Given the description of an element on the screen output the (x, y) to click on. 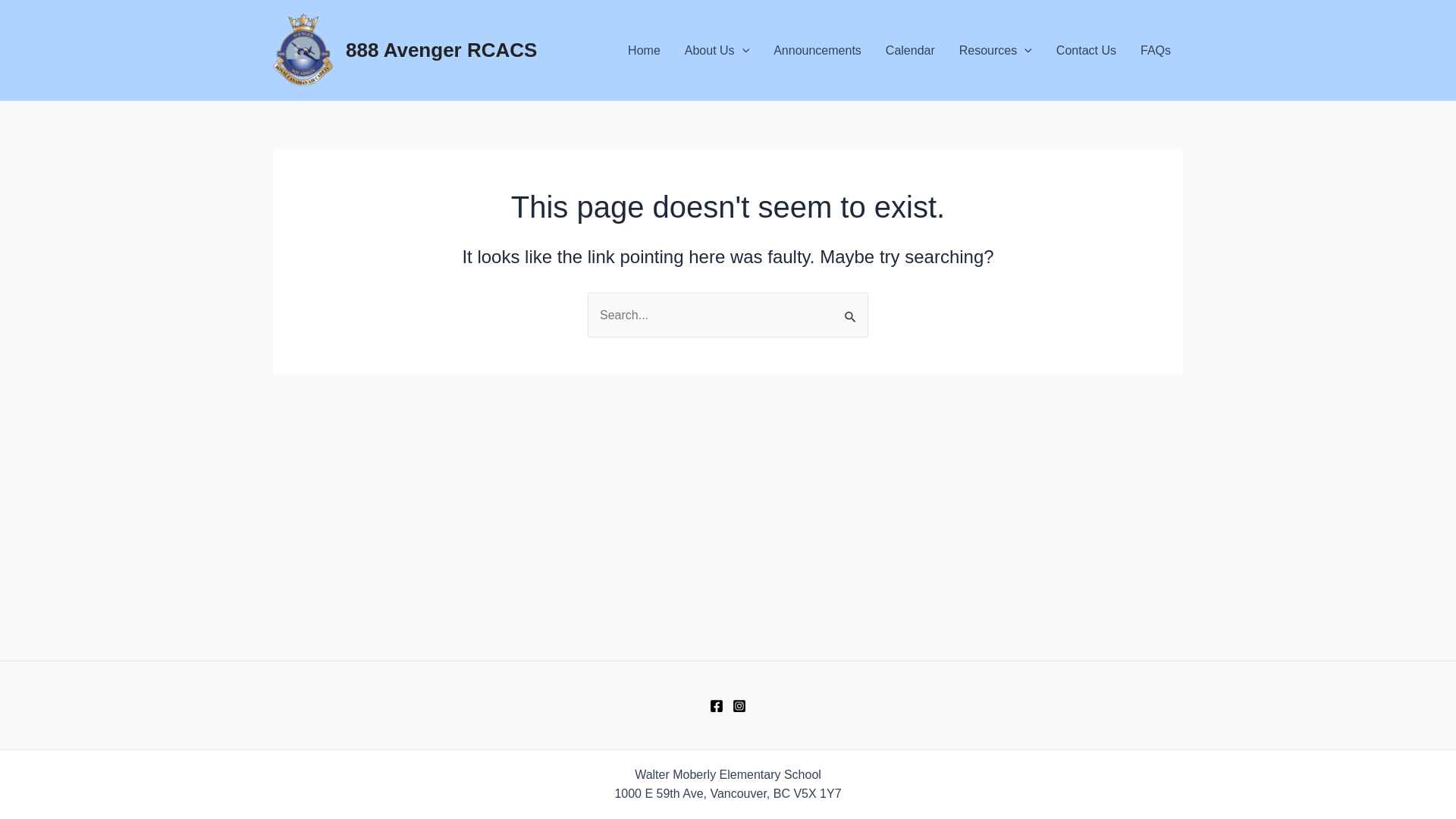
About Us Element type: text (716, 49)
888 Avenger RCACS Element type: text (440, 49)
FAQs Element type: text (1155, 49)
Home Element type: text (643, 49)
Search Element type: text (851, 308)
Resources Element type: text (995, 49)
Announcements Element type: text (817, 49)
Calendar Element type: text (910, 49)
Contact Us Element type: text (1086, 49)
